Given the description of an element on the screen output the (x, y) to click on. 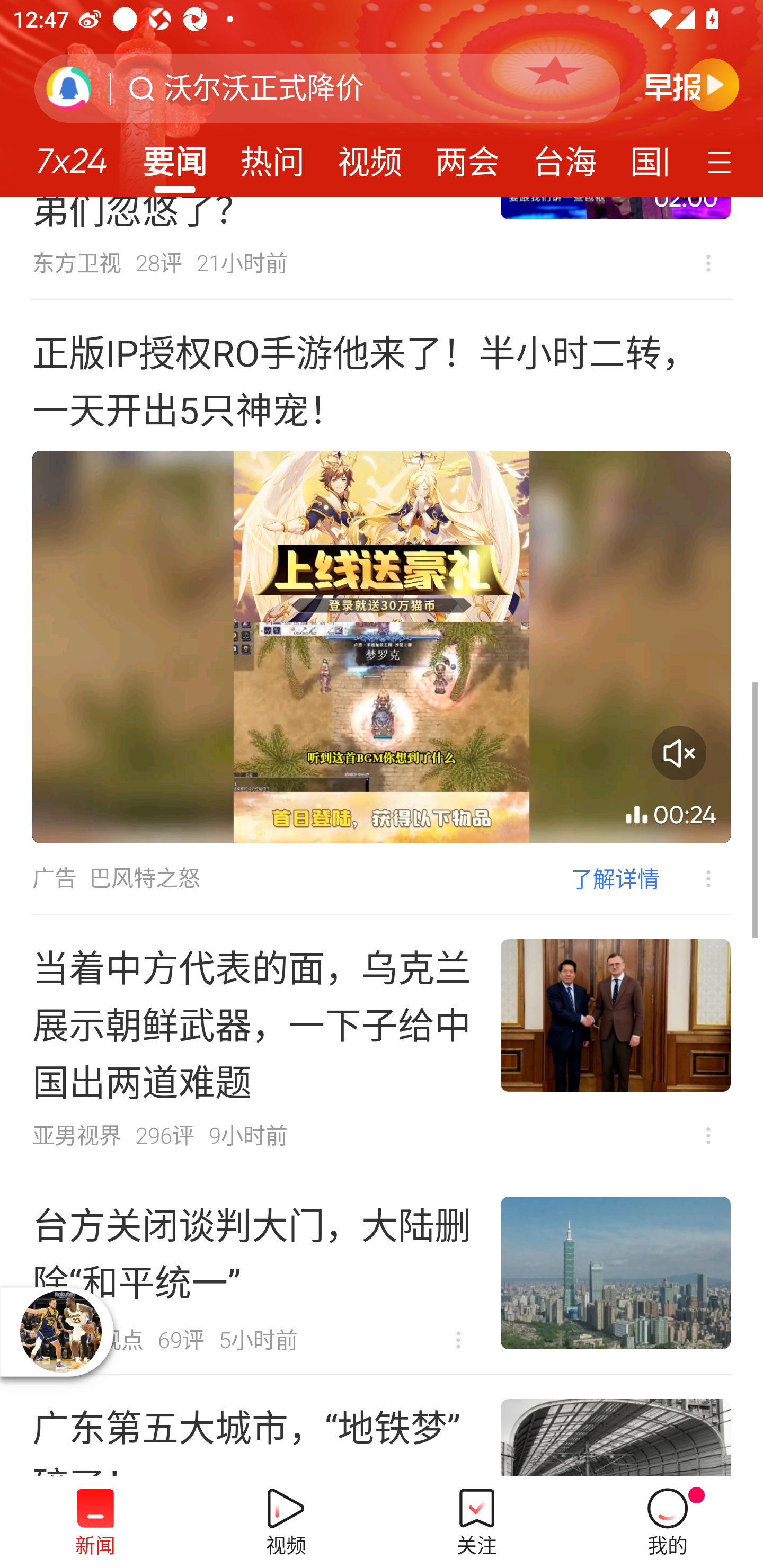
早晚报 (691, 84)
刷新 (68, 88)
沃尔沃正式降价 (263, 88)
7x24 (70, 154)
要闻 (174, 155)
热问 (272, 155)
视频 (369, 155)
两会 (466, 155)
台海 (564, 155)
 定制频道 (721, 160)
 不感兴趣 (707, 263)
00:24 音量开关 (381, 647)
音量开关 (678, 752)
 不感兴趣 (694, 878)
了解详情 (614, 878)
广告 (54, 878)
巴风特之怒 (144, 878)
 不感兴趣 (707, 1135)
台方关闭谈判大门，大陆删除“和平统一” 大圣说观点 69评 5小时前  不感兴趣 (381, 1272)
播放器 (60, 1331)
 不感兴趣 (458, 1340)
